Given the description of an element on the screen output the (x, y) to click on. 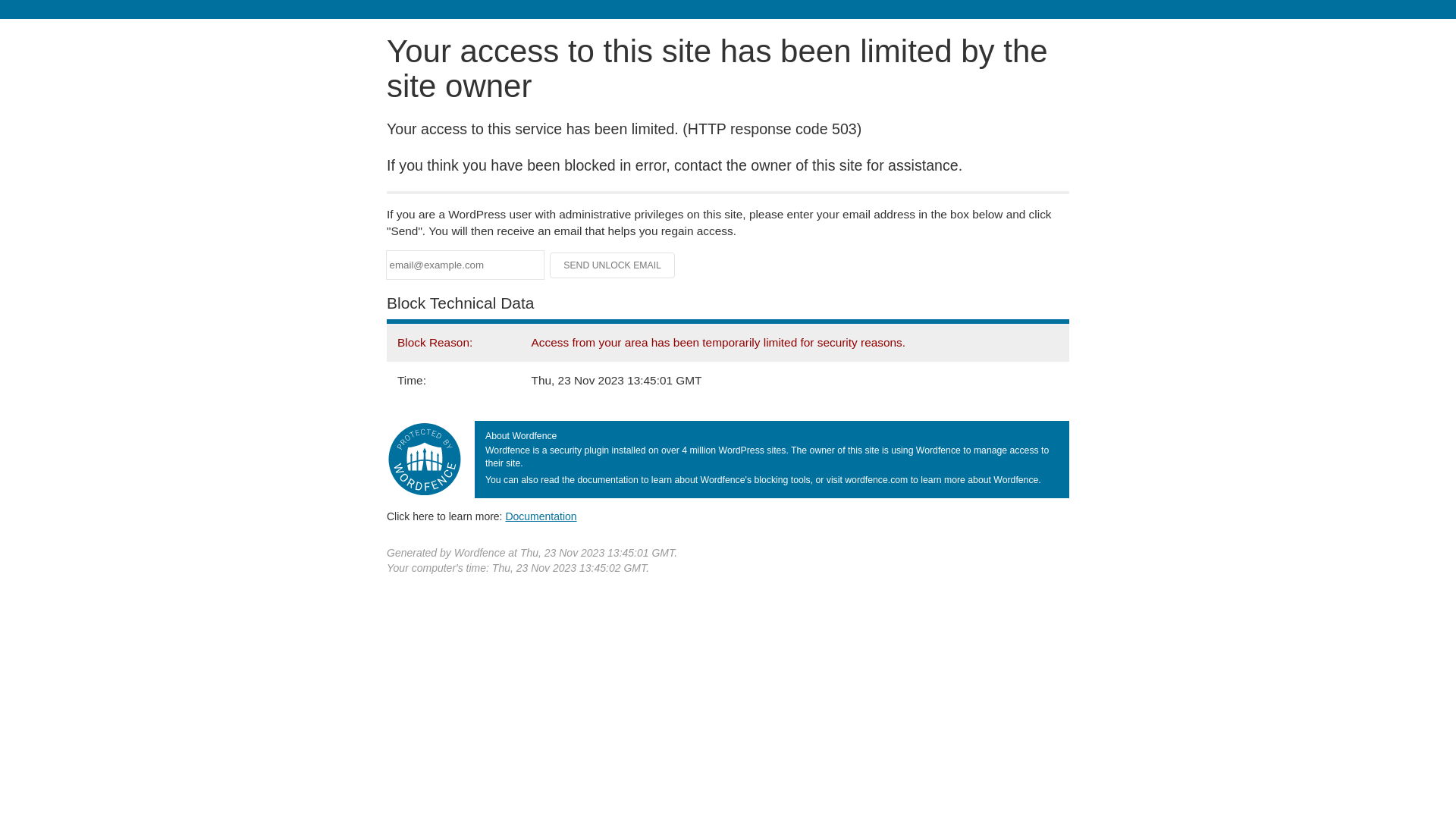
Send Unlock Email Element type: text (612, 265)
Documentation Element type: text (540, 516)
